Given the description of an element on the screen output the (x, y) to click on. 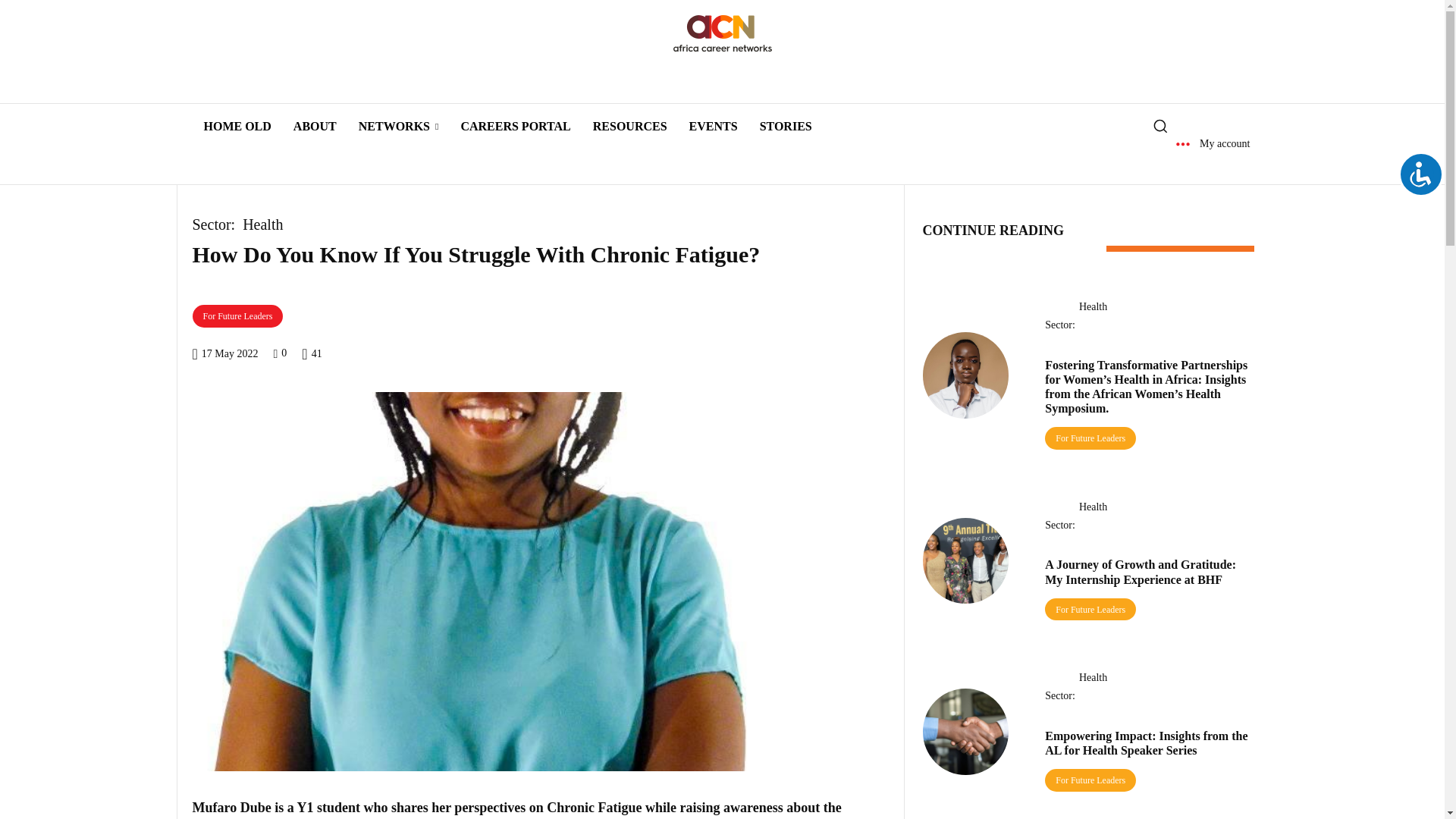
ABOUT (314, 125)
HOME OLD (236, 125)
